Given the description of an element on the screen output the (x, y) to click on. 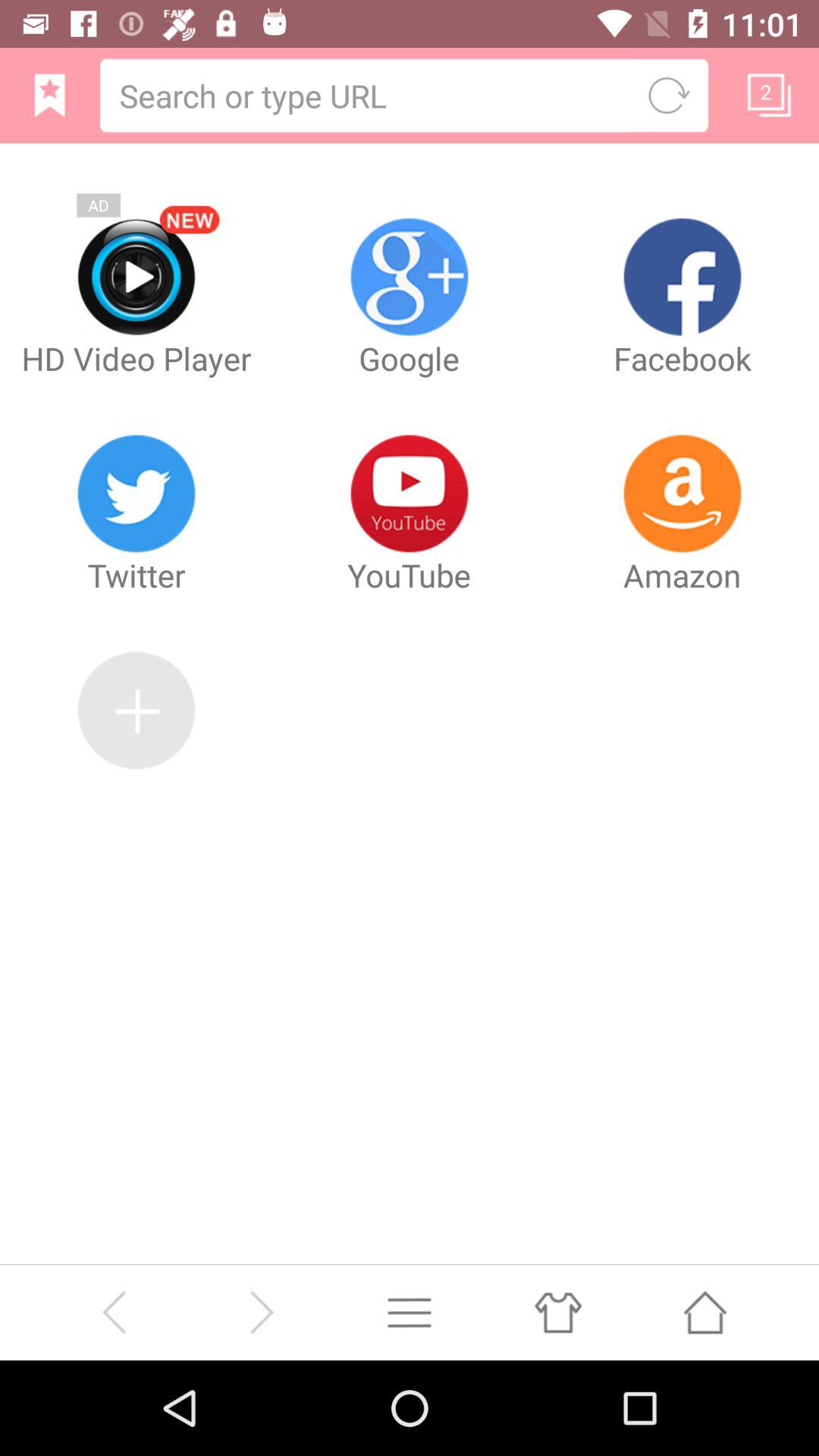
go back (113, 1312)
